Given the description of an element on the screen output the (x, y) to click on. 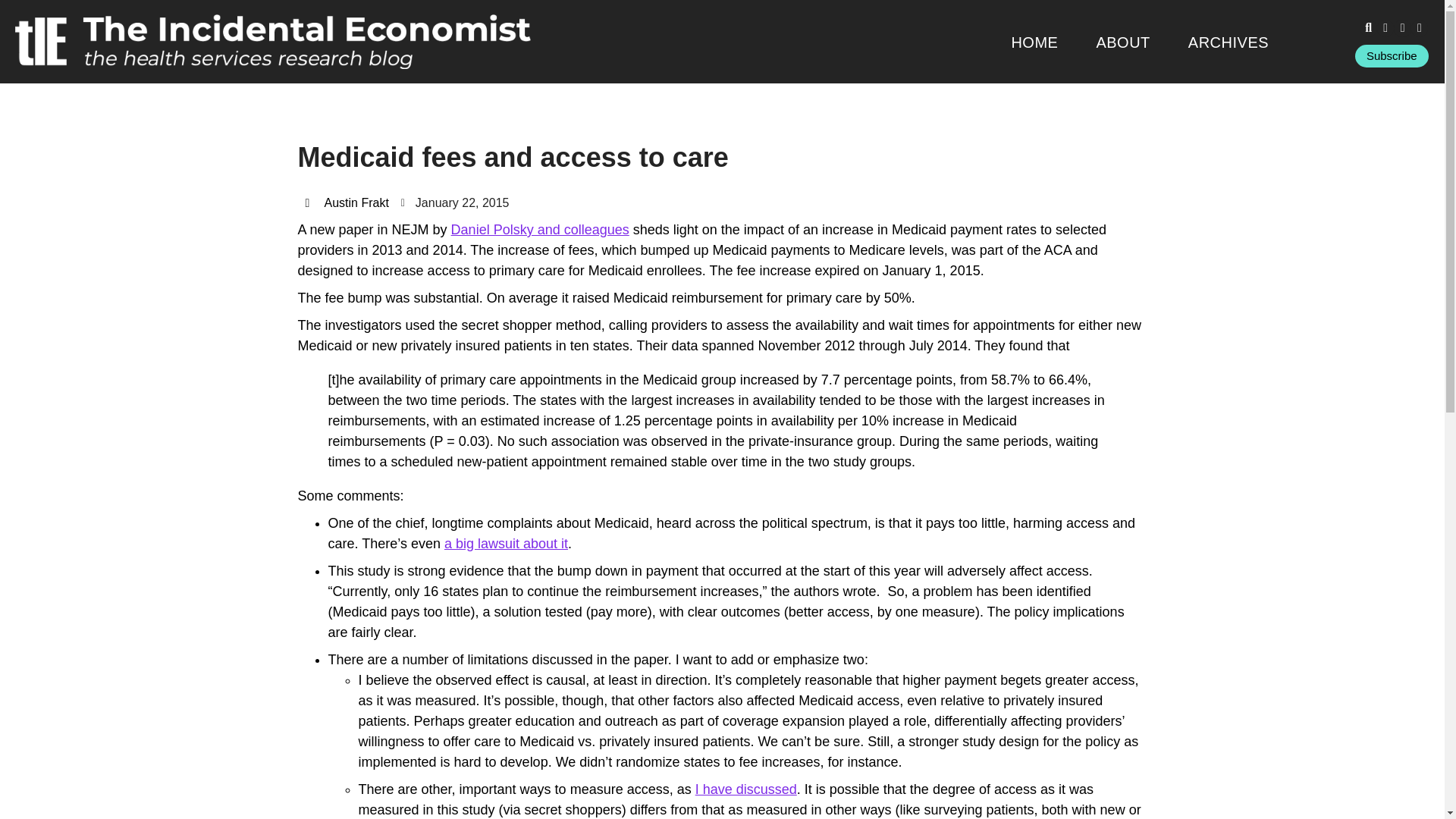
Daniel Polsky and colleagues (539, 229)
I have discussed (745, 789)
a big lawsuit about it (505, 543)
Austin Frakt (346, 203)
ARCHIVES (1228, 41)
ABOUT (1122, 41)
January 22, 2015 (455, 203)
Subscribe (1391, 56)
HOME (1034, 41)
